Given the description of an element on the screen output the (x, y) to click on. 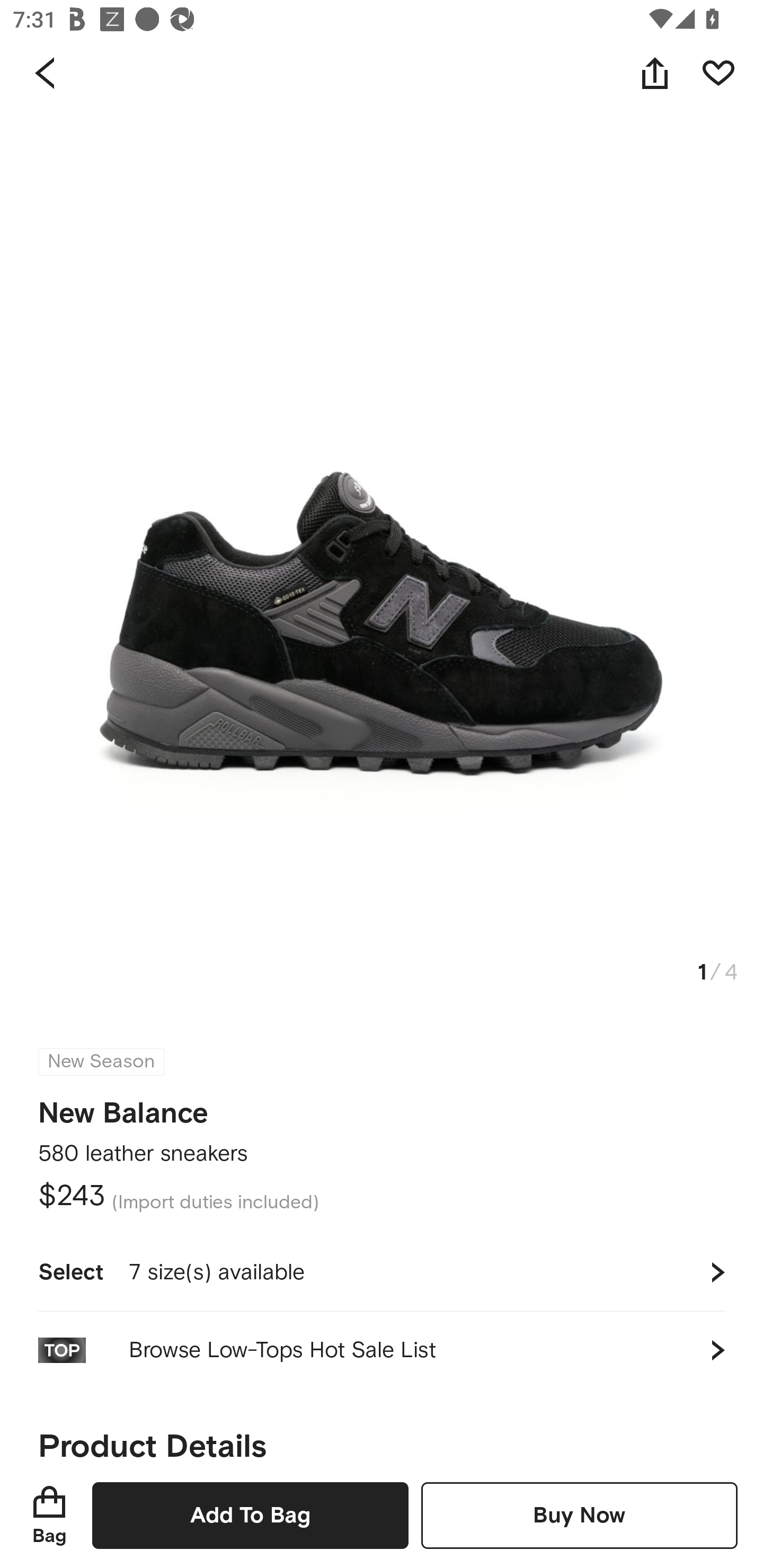
New Balance (123, 1107)
Select 7 size(s) available (381, 1272)
Browse Low-Tops Hot Sale List (381, 1349)
Bag (49, 1515)
Add To Bag (250, 1515)
Buy Now (579, 1515)
